Given the description of an element on the screen output the (x, y) to click on. 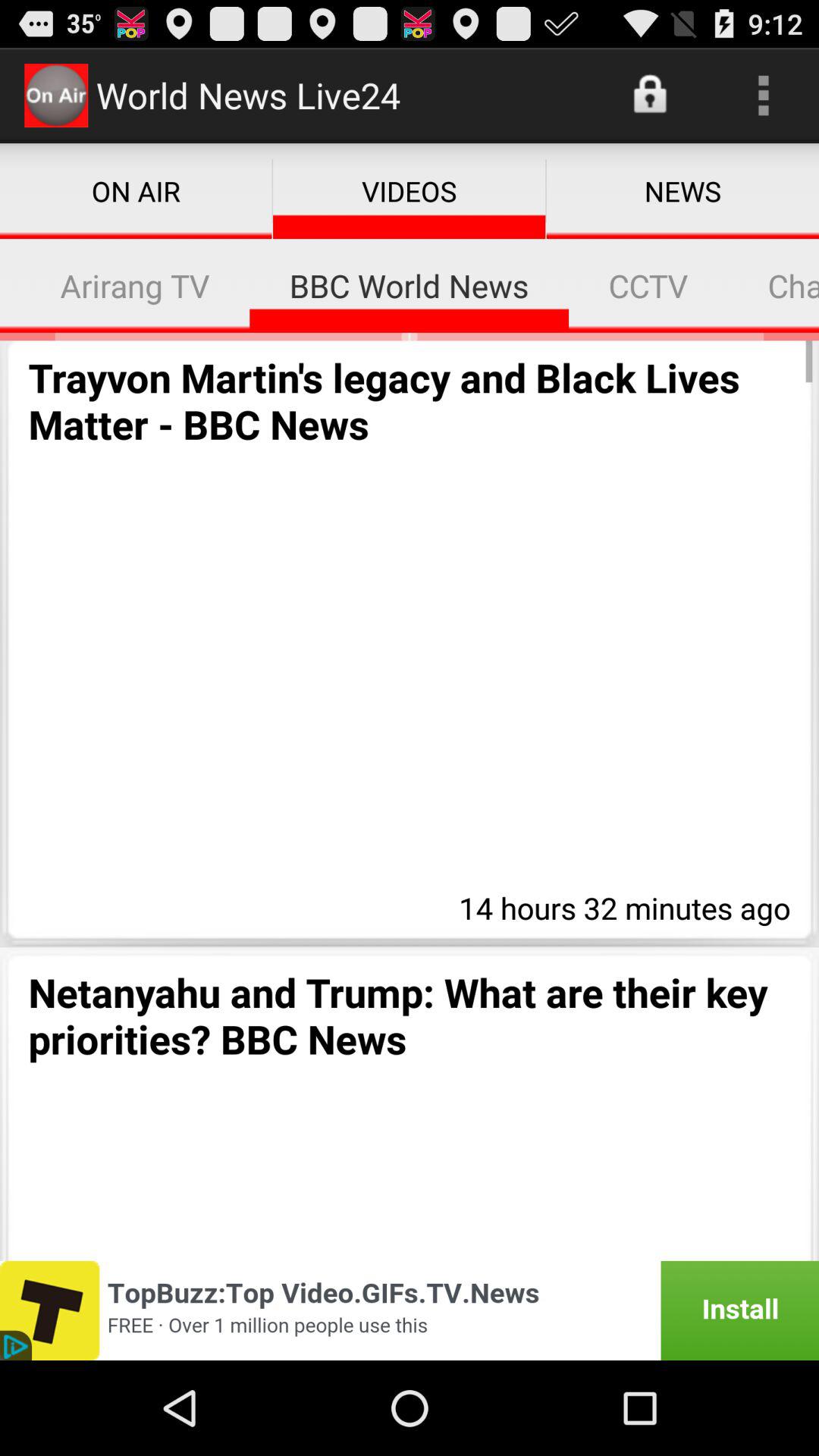
go to topbuxx advertisement (409, 1310)
